Given the description of an element on the screen output the (x, y) to click on. 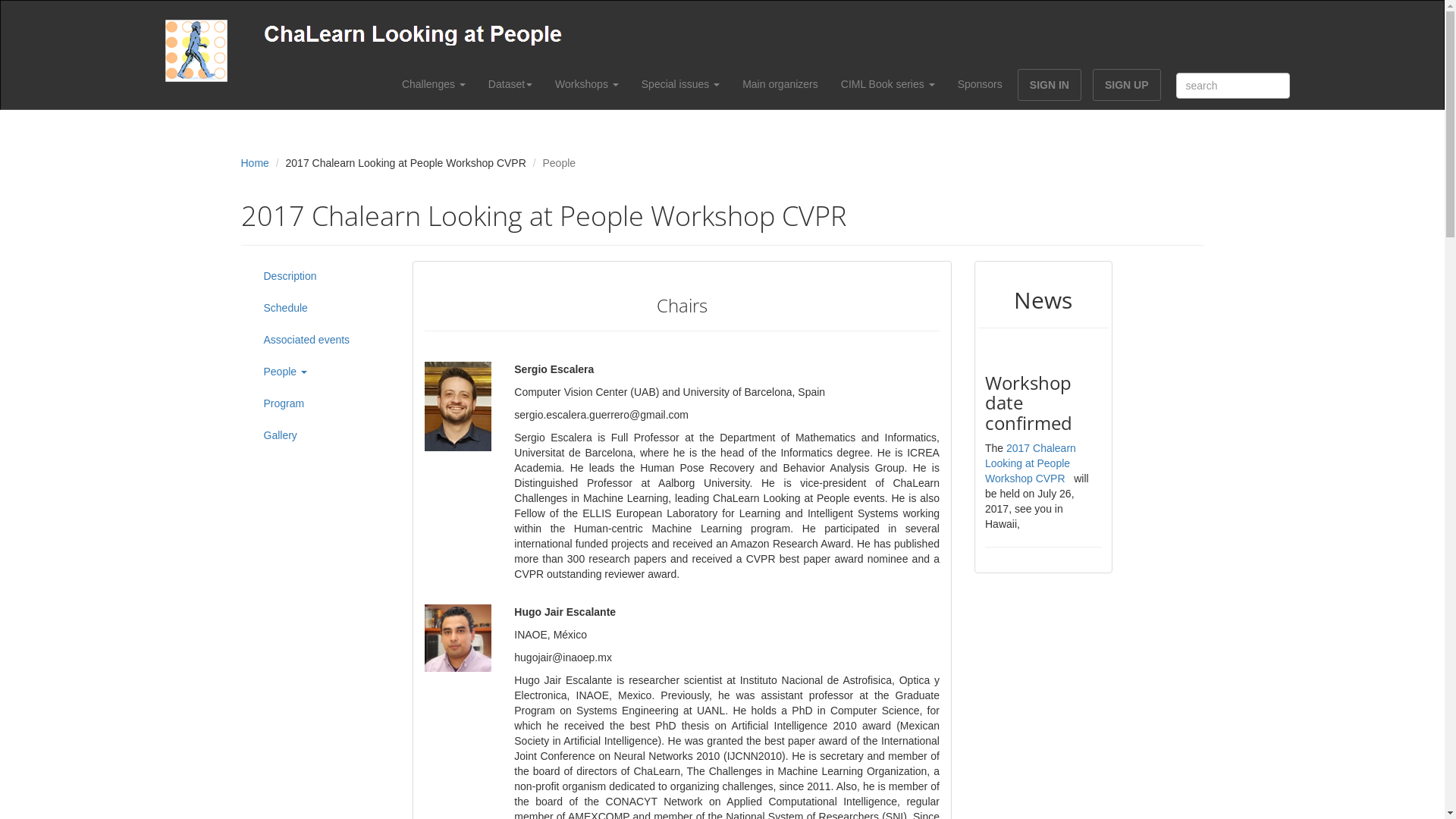
Dataset Element type: text (509, 84)
2017 Chalearn Looking at People Workshop CVPR Element type: text (1030, 463)
Schedule Element type: text (320, 307)
Associated events Element type: text (320, 339)
Program Element type: text (320, 403)
Workshops Element type: text (586, 84)
Description Element type: text (320, 275)
SIGN IN Element type: text (1049, 84)
Challenges Element type: text (433, 84)
People Element type: text (320, 371)
SIGN UP Element type: text (1126, 84)
Main organizers Element type: text (780, 84)
Gallery Element type: text (320, 435)
Home Element type: text (255, 162)
CIML Book series Element type: text (887, 84)
Sponsors Element type: text (979, 84)
Special issues Element type: text (680, 84)
